Given the description of an element on the screen output the (x, y) to click on. 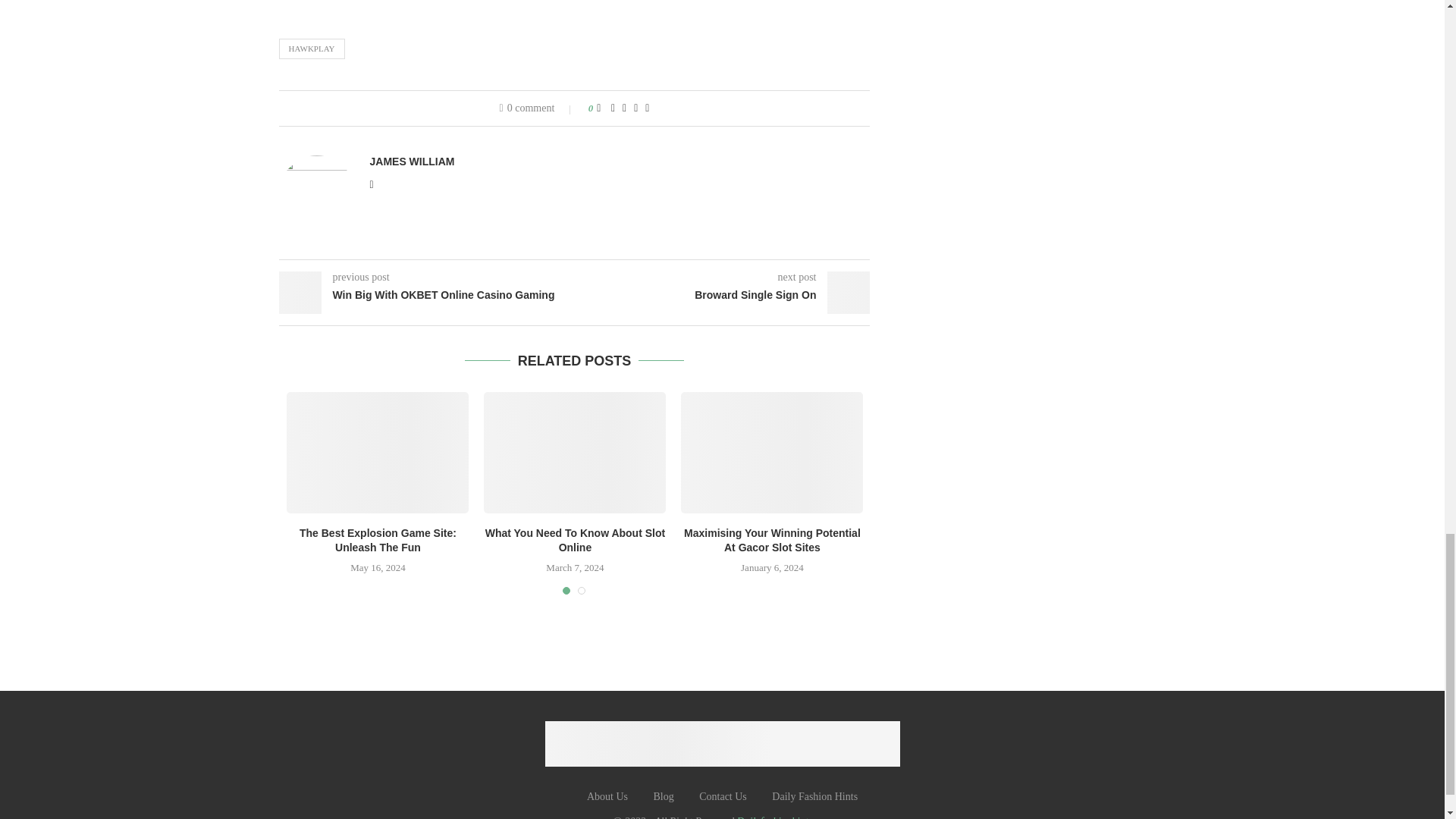
Maximising Your Winning Potential At Gacor Slot Sites (772, 452)
JAMES WILLIAM (411, 161)
Author James William (411, 161)
Win Big With OKBET Online Casino Gaming (427, 295)
The Best Explosion Game Site: Unleash The Fun (377, 452)
Broward Single Sign On (722, 295)
HAWKPLAY (312, 48)
What You Need To Know About Slot Online (574, 452)
